Given the description of an element on the screen output the (x, y) to click on. 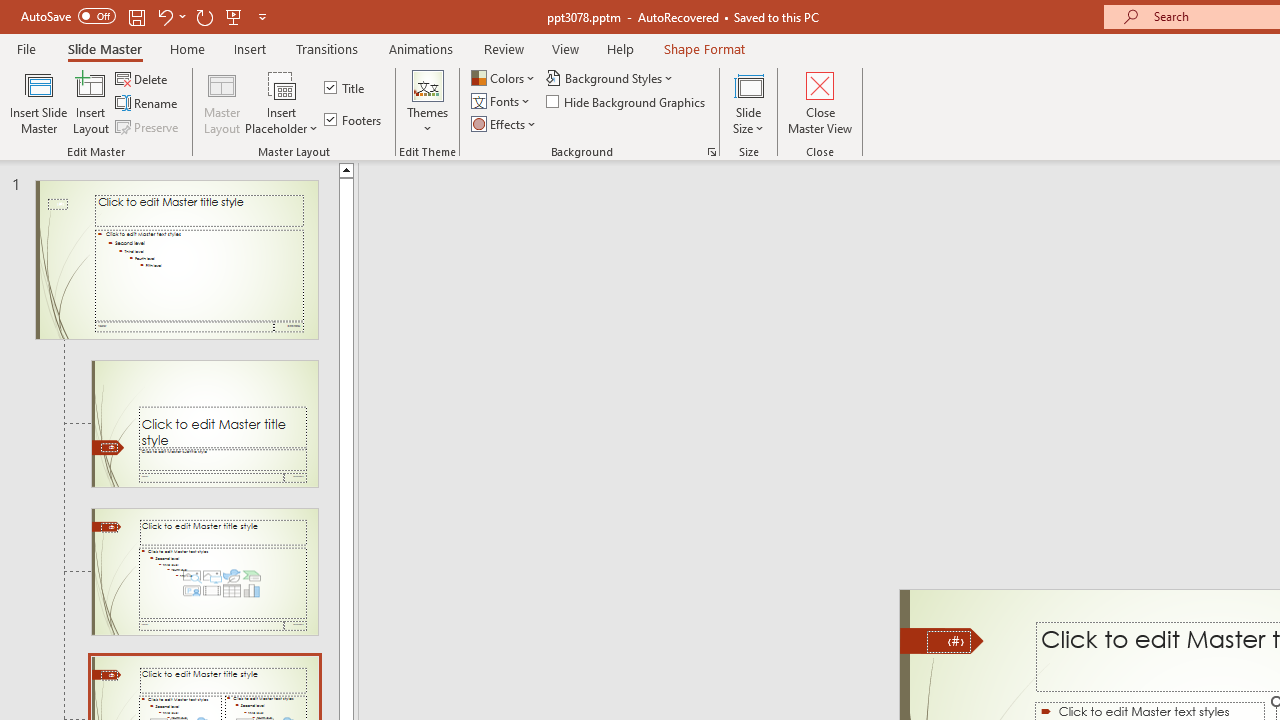
Rename (148, 103)
Slide Number (948, 641)
